Given the description of an element on the screen output the (x, y) to click on. 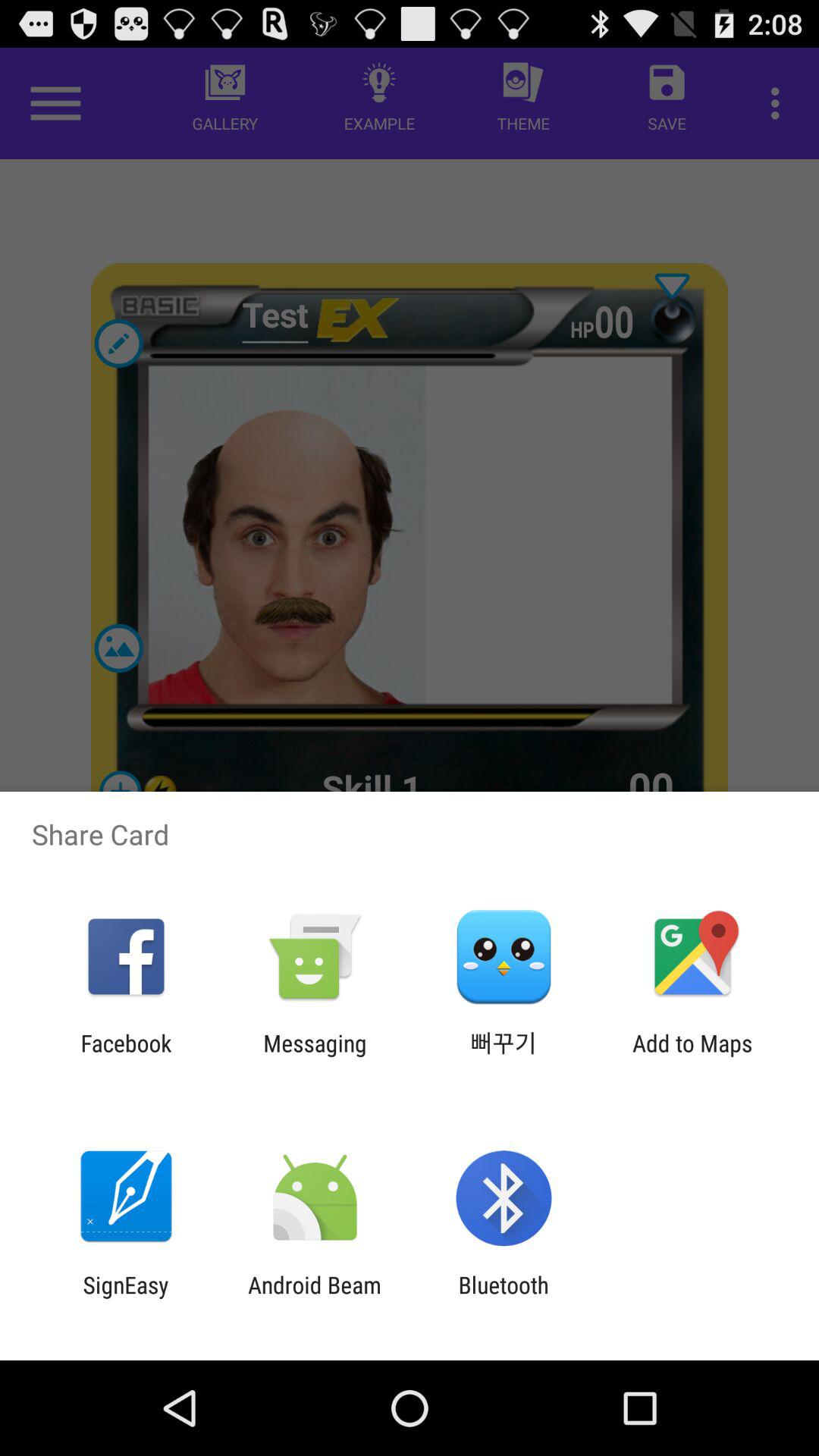
launch app to the right of the messaging app (503, 1056)
